Given the description of an element on the screen output the (x, y) to click on. 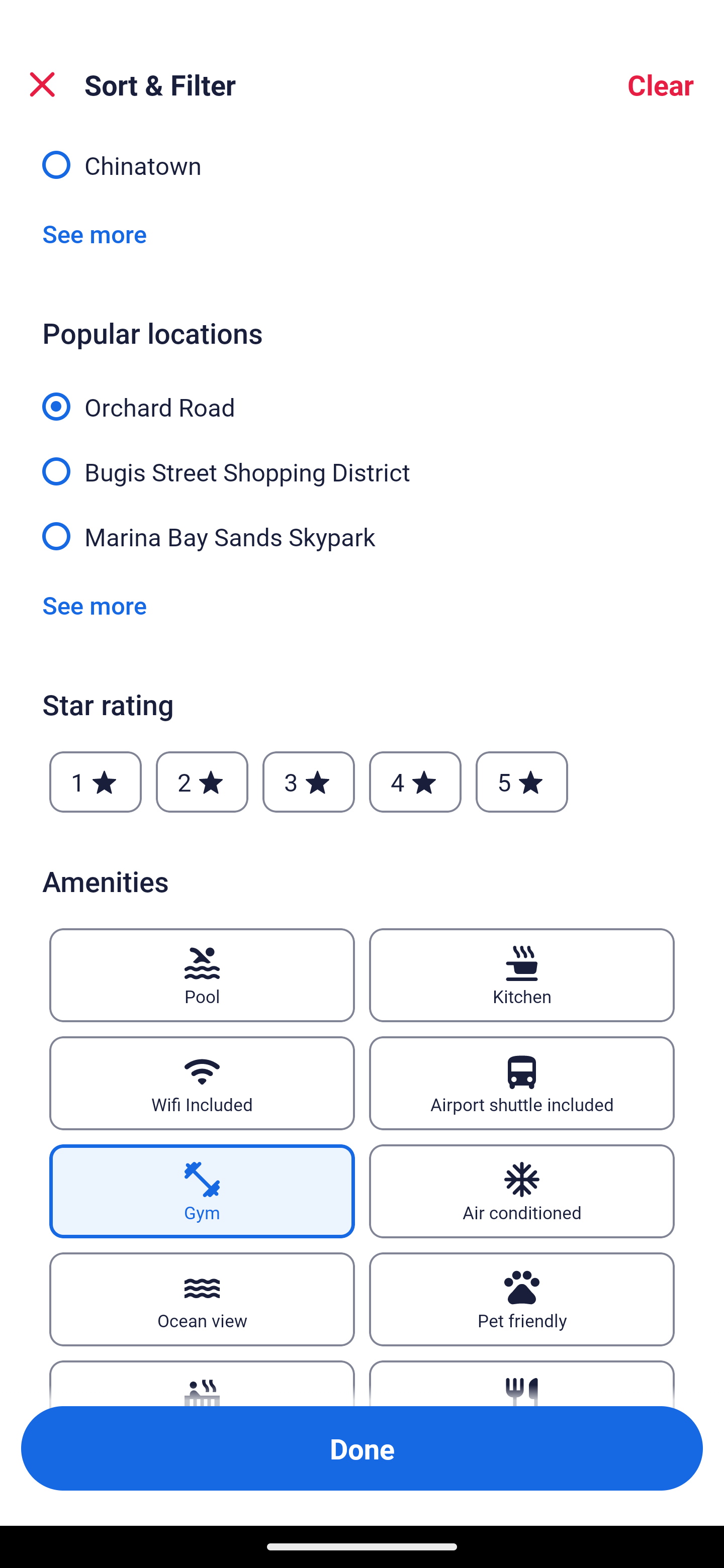
Close Sort and Filter (42, 84)
Clear (660, 84)
Chinatown (361, 166)
See more See more neighborhoods Link (93, 233)
Bugis Street Shopping District (361, 460)
Marina Bay Sands Skypark (361, 534)
See more See more popular locations Link (93, 604)
1 (95, 782)
2 (201, 782)
3 (308, 782)
4 (415, 782)
5 (521, 782)
Pool (201, 975)
Kitchen (521, 975)
Wifi Included (201, 1083)
Airport shuttle included (521, 1083)
Gym (201, 1191)
Air conditioned (521, 1191)
Ocean view (201, 1299)
Pet friendly (521, 1299)
Apply and close Sort and Filter Done (361, 1448)
